Given the description of an element on the screen output the (x, y) to click on. 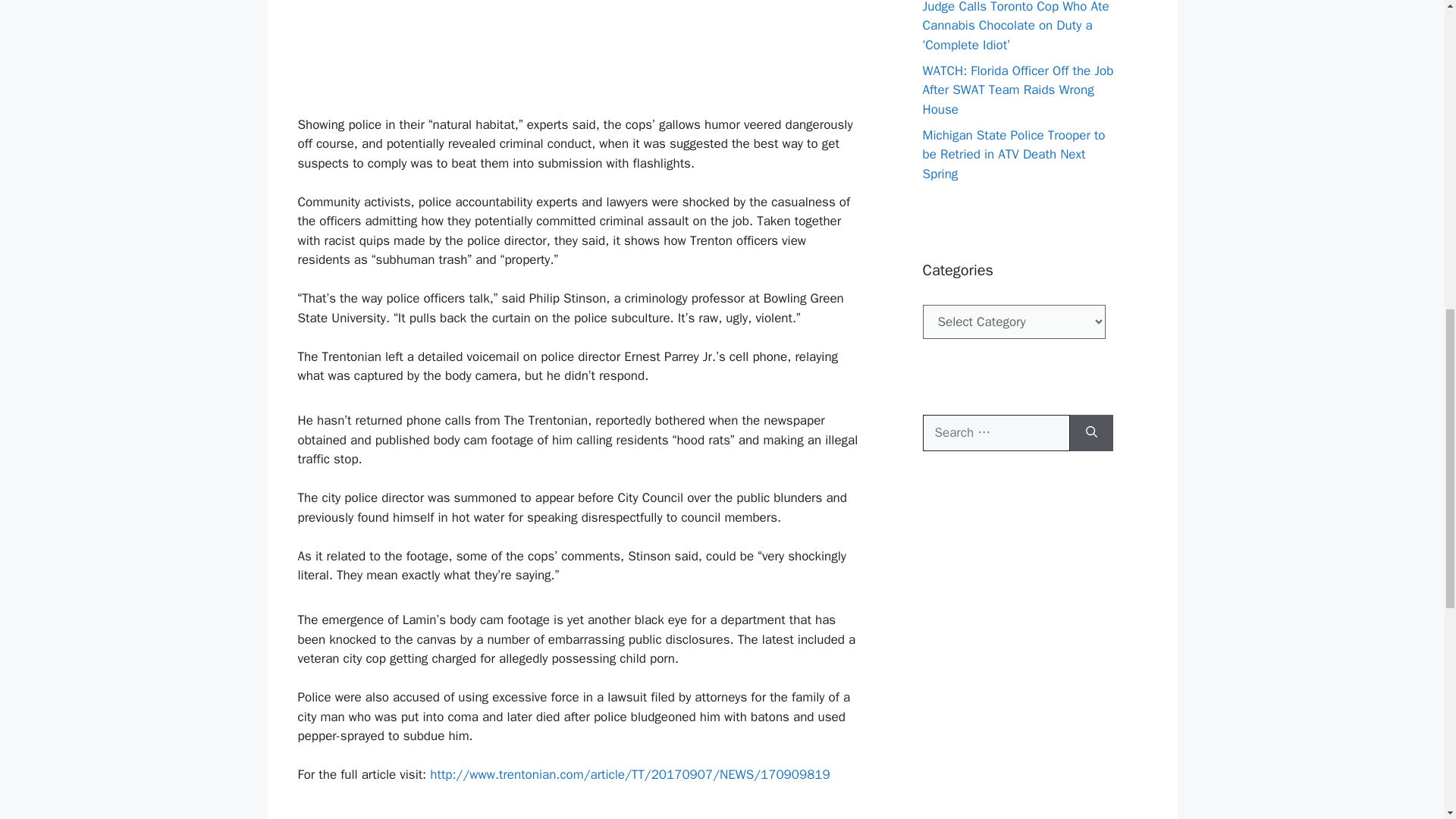
Advertisement (579, 54)
Search for: (994, 432)
